Given the description of an element on the screen output the (x, y) to click on. 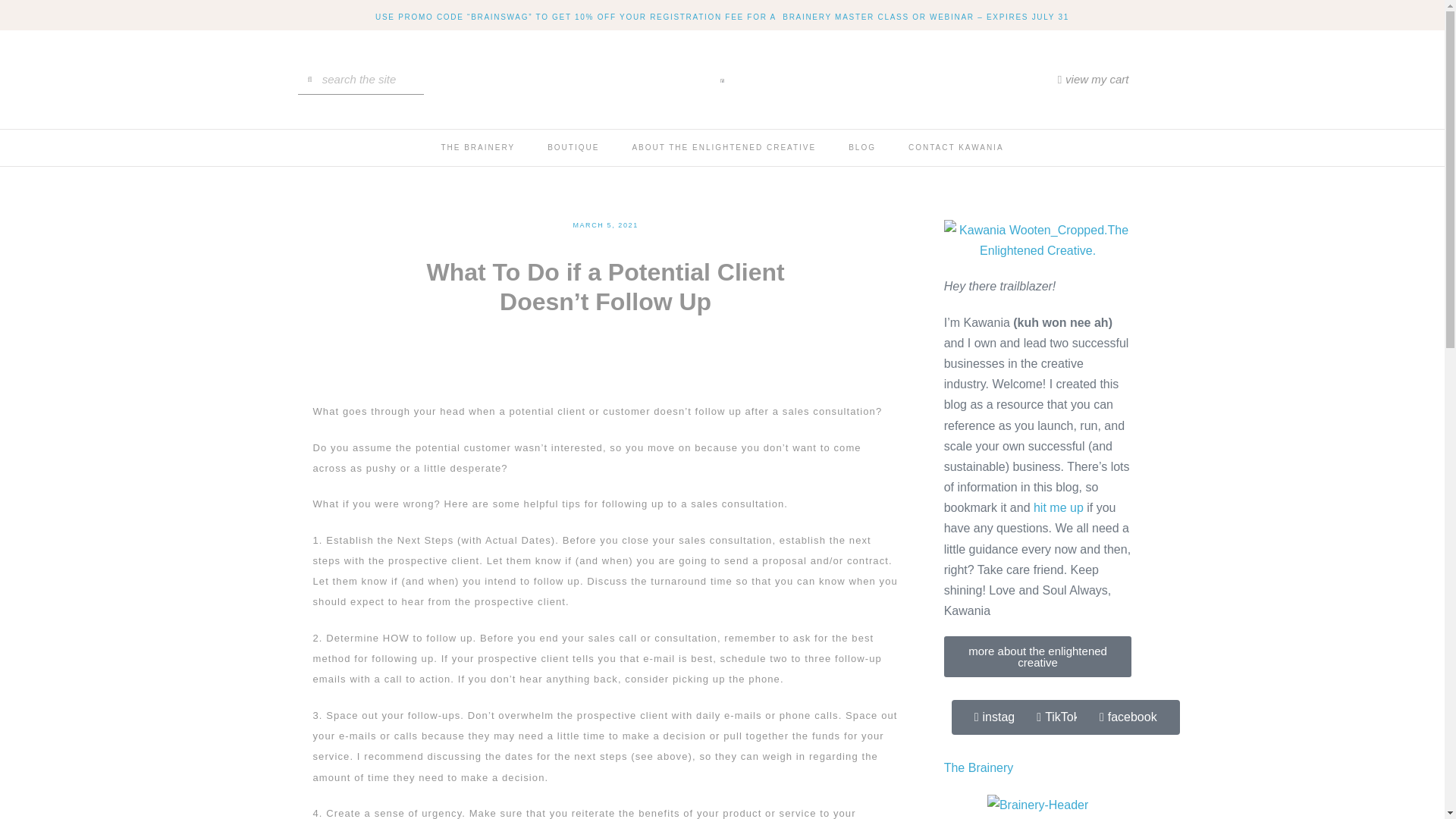
BOUTIQUE (573, 147)
TikTok (1057, 717)
THE BRAINERY (477, 147)
ABOUT THE ENLIGHTENED CREATIVE (723, 147)
facebook (1128, 717)
instagram (1005, 717)
BLOG (861, 147)
hit me up (1058, 507)
MARCH 5, 2021 (604, 225)
Brainery-Header (1037, 804)
